Given the description of an element on the screen output the (x, y) to click on. 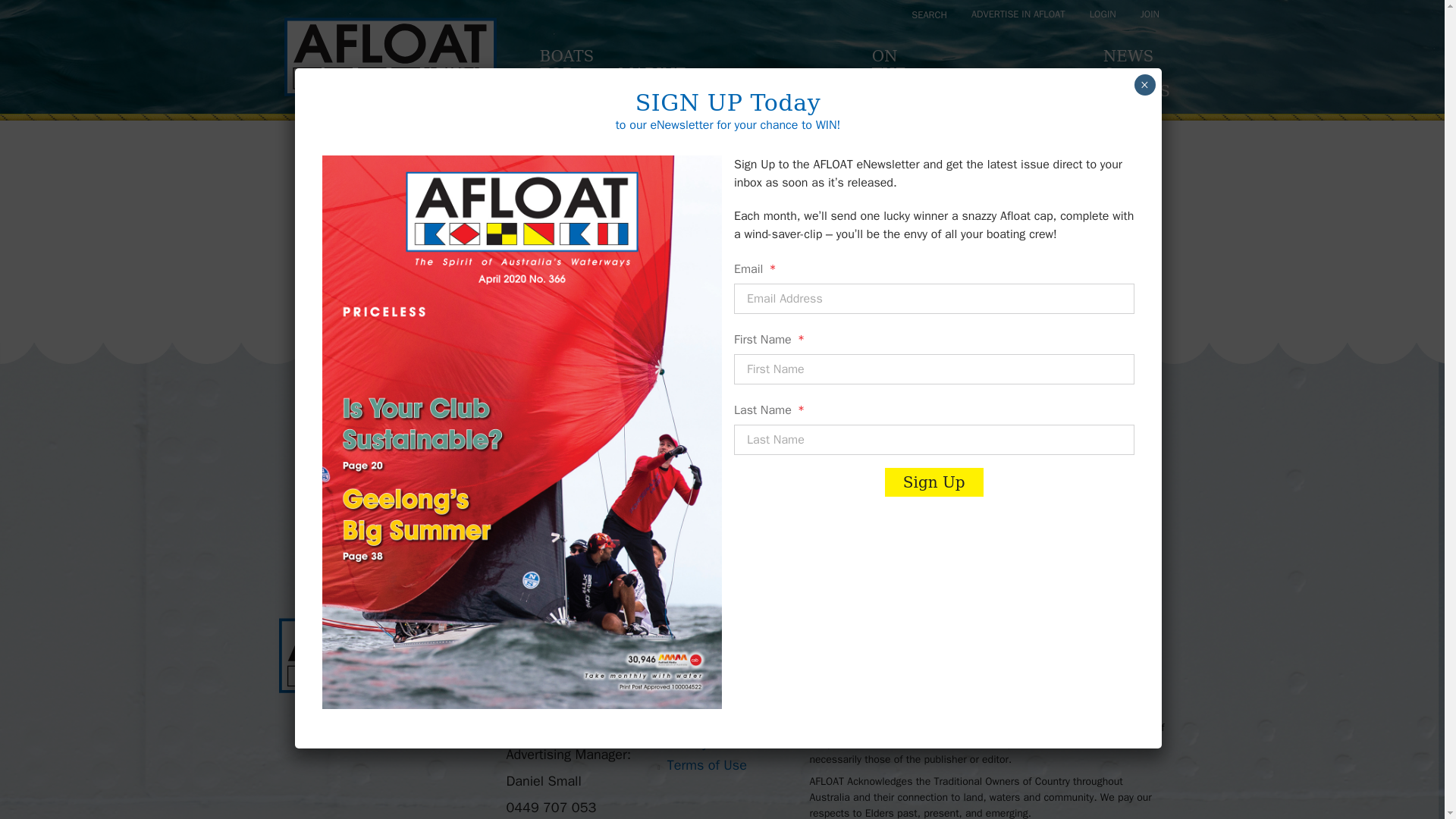
Sign Up (1040, 542)
